Given the description of an element on the screen output the (x, y) to click on. 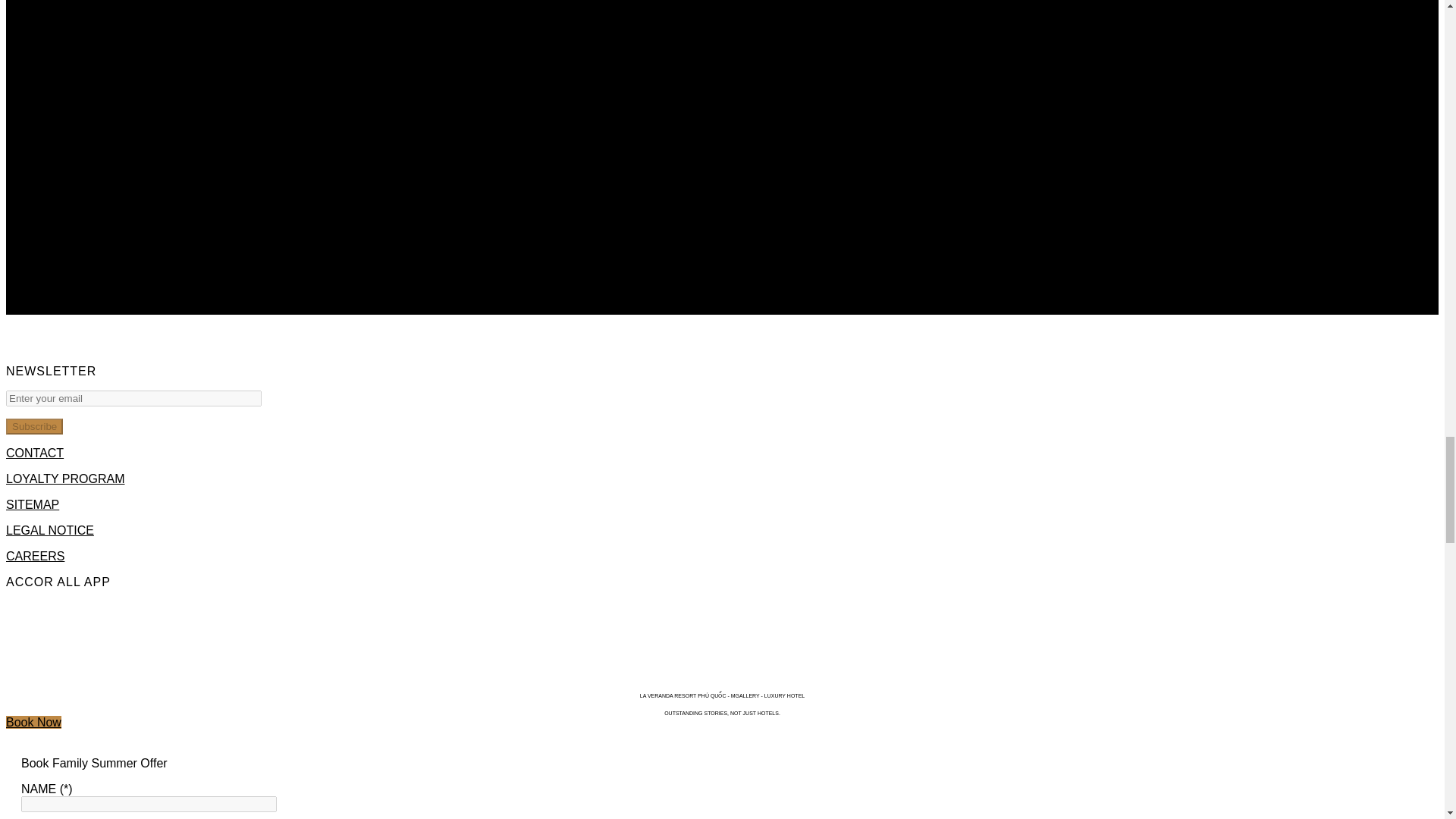
Subscribe (33, 426)
